Given the description of an element on the screen output the (x, y) to click on. 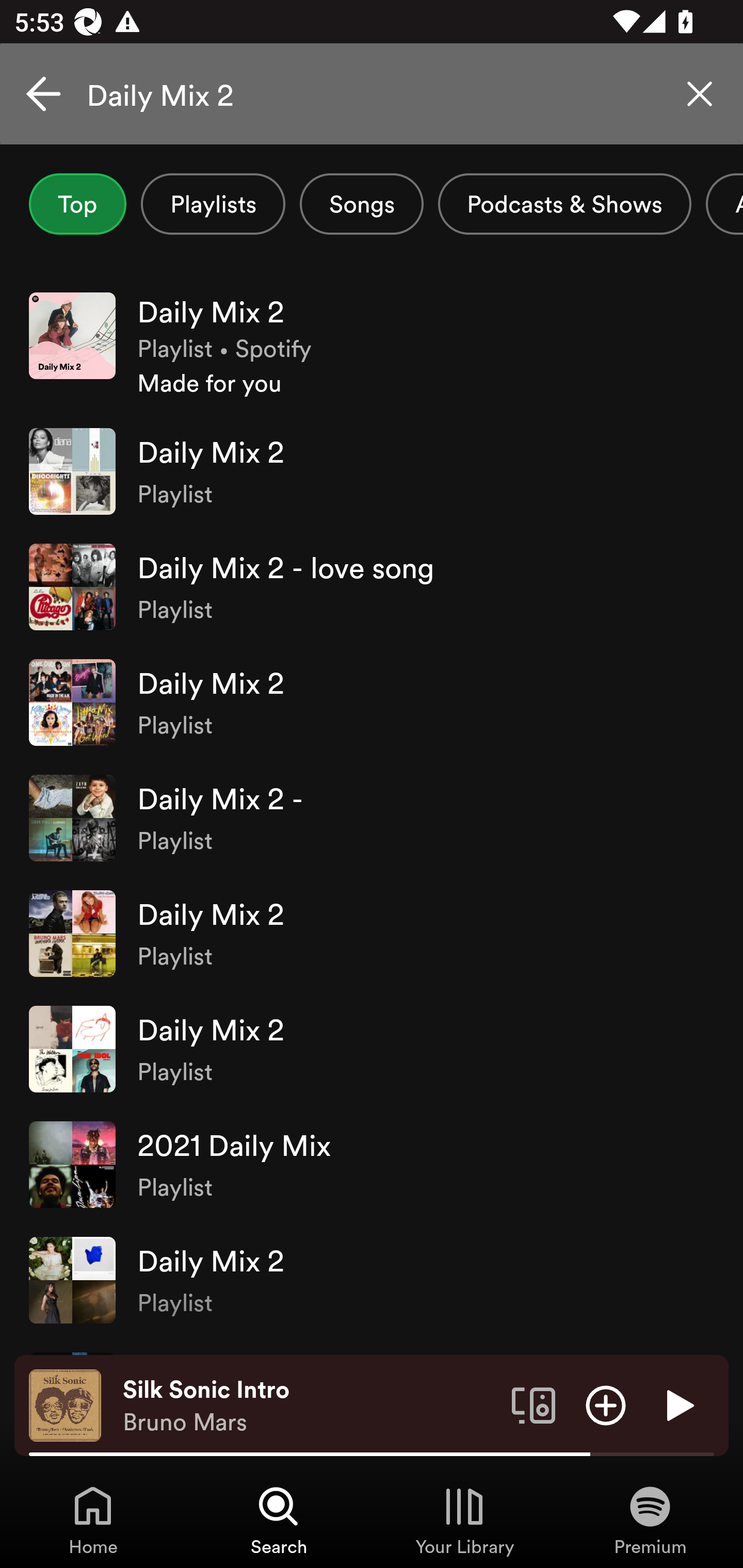
Daily Mix 2 (371, 93)
Cancel (43, 93)
Clear search query (699, 93)
Top (77, 203)
Playlists (213, 203)
Songs (361, 203)
Podcasts & Shows (564, 203)
Daily Mix 2 Playlist • Spotify Made for you (371, 345)
Daily Mix 2 Playlist (371, 471)
Daily Mix 2 - love song Playlist (371, 586)
Daily Mix 2  Playlist (371, 702)
Daily Mix 2 - Playlist (371, 818)
Daily Mix 2 Playlist (371, 933)
Daily Mix 2 Playlist (371, 1048)
2021 Daily Mix Playlist (371, 1165)
Daily Mix 2 Playlist (371, 1280)
Silk Sonic Intro Bruno Mars (309, 1405)
The cover art of the currently playing track (64, 1404)
Connect to a device. Opens the devices menu (533, 1404)
Add item (605, 1404)
Play (677, 1404)
Home, Tab 1 of 4 Home Home (92, 1519)
Search, Tab 2 of 4 Search Search (278, 1519)
Your Library, Tab 3 of 4 Your Library Your Library (464, 1519)
Premium, Tab 4 of 4 Premium Premium (650, 1519)
